Given the description of an element on the screen output the (x, y) to click on. 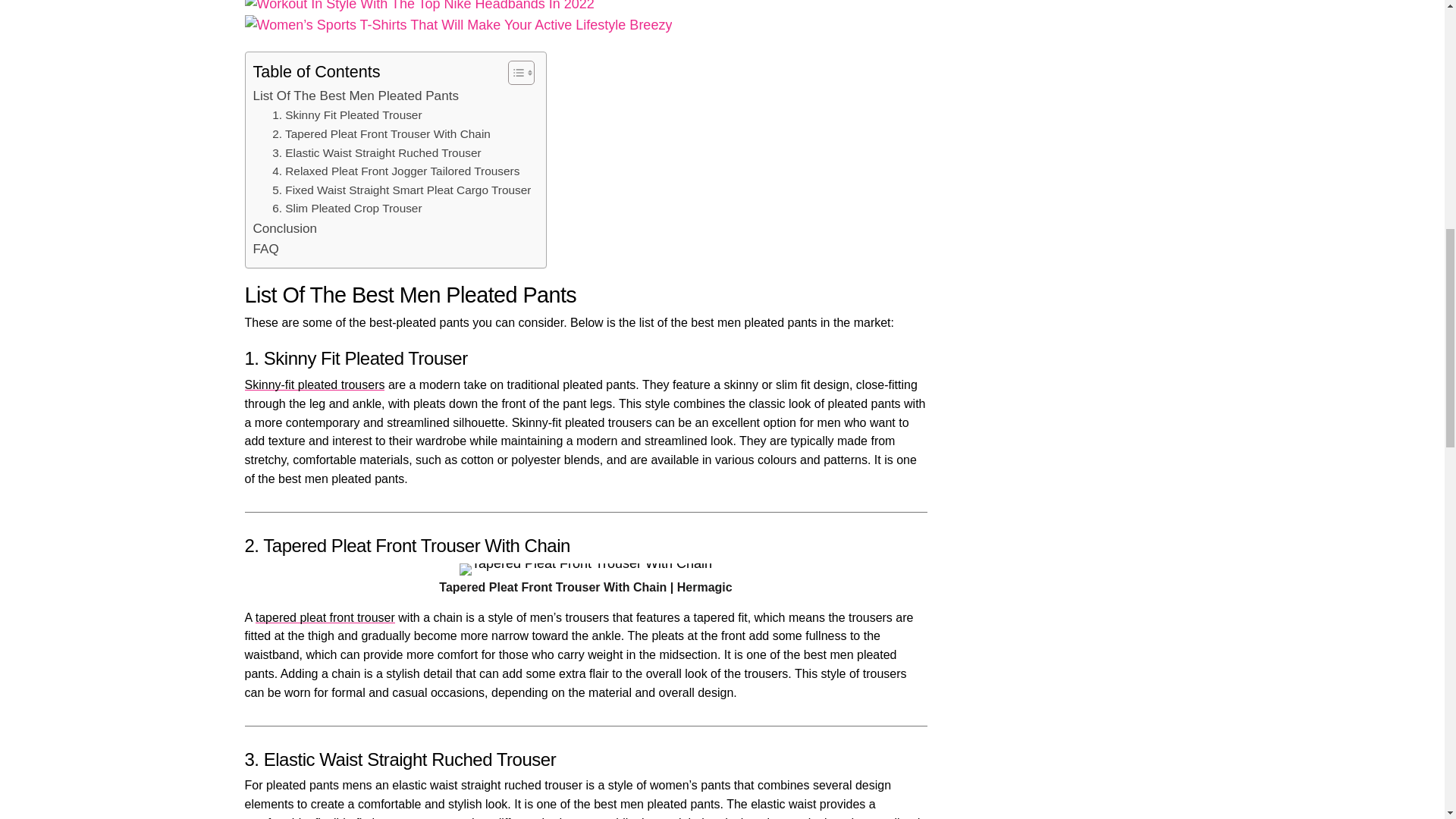
3. Elastic Waist Straight Ruched Trouser (376, 153)
FAQ (266, 249)
List Of The Best Men Pleated Pants (355, 95)
5. Fixed Waist Straight Smart Pleat Cargo Trouser (401, 189)
6. Slim Pleated Crop Trouser (347, 208)
1. Skinny Fit Pleated Trouser (347, 115)
4. Relaxed Pleat Front Jogger Tailored Trousers (395, 171)
2. Tapered Pleat Front Trouser With Chain (381, 134)
Conclusion (285, 228)
